Given the description of an element on the screen output the (x, y) to click on. 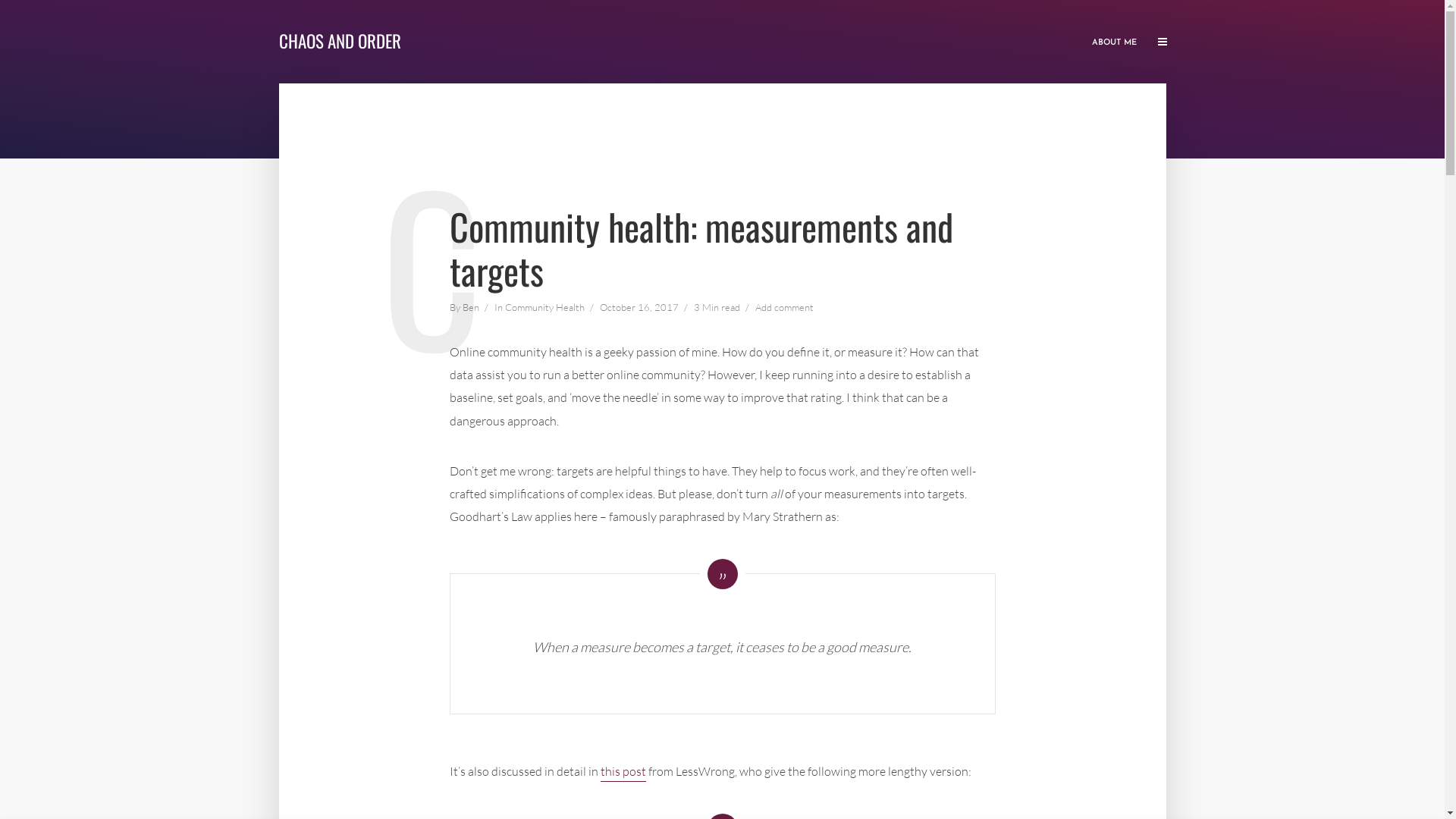
Add comment Element type: text (784, 308)
CHAOS AND ORDER Element type: text (340, 40)
Community Health Element type: text (544, 308)
this post Element type: text (623, 772)
Ben Element type: text (470, 308)
ABOUT ME Element type: text (1114, 41)
